Given the description of an element on the screen output the (x, y) to click on. 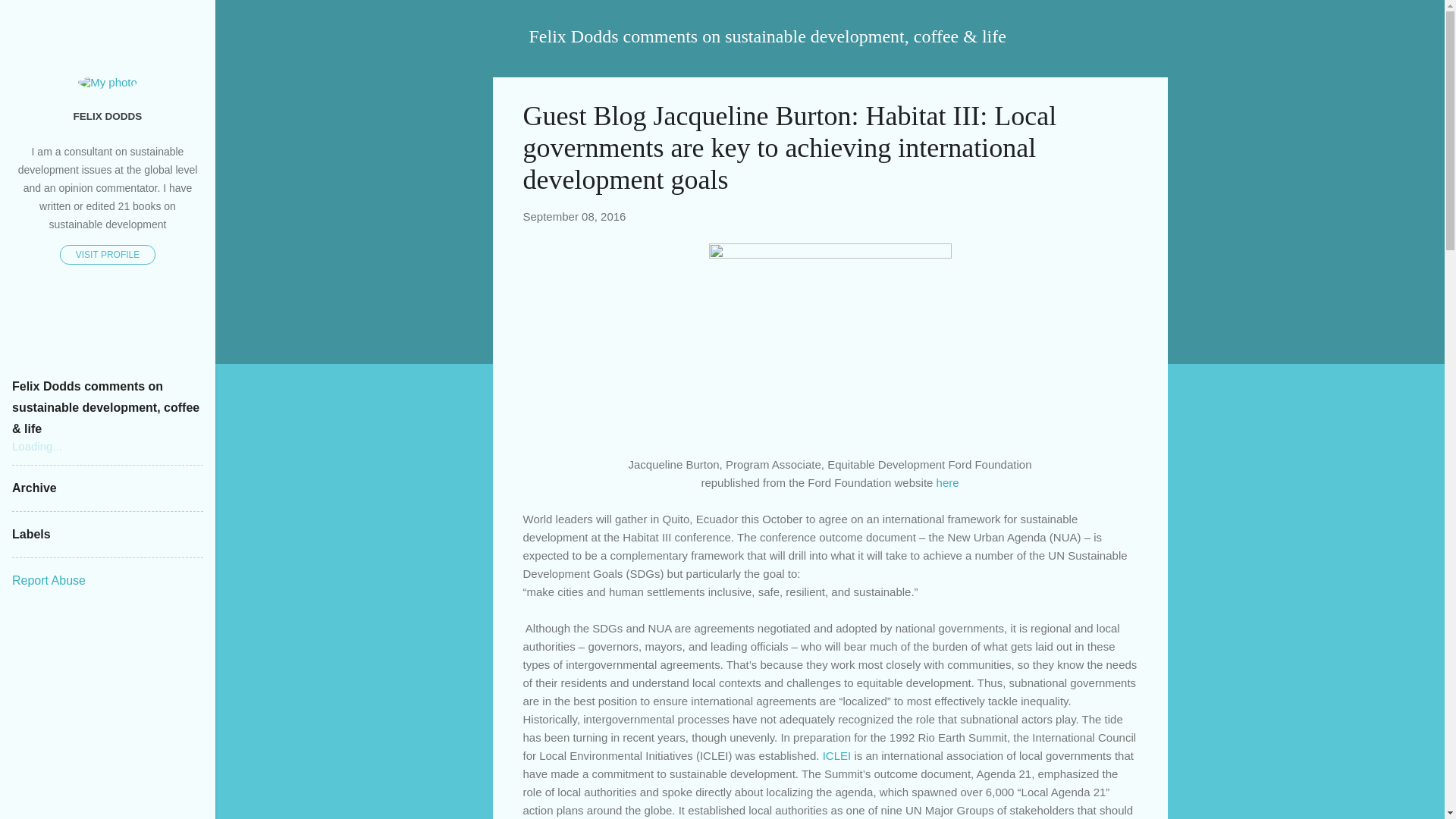
VISIT PROFILE (107, 254)
permanent link (574, 215)
ICLEI (836, 755)
Search (29, 18)
September 08, 2016 (574, 215)
FELIX DODDS (107, 115)
here (947, 481)
